Given the description of an element on the screen output the (x, y) to click on. 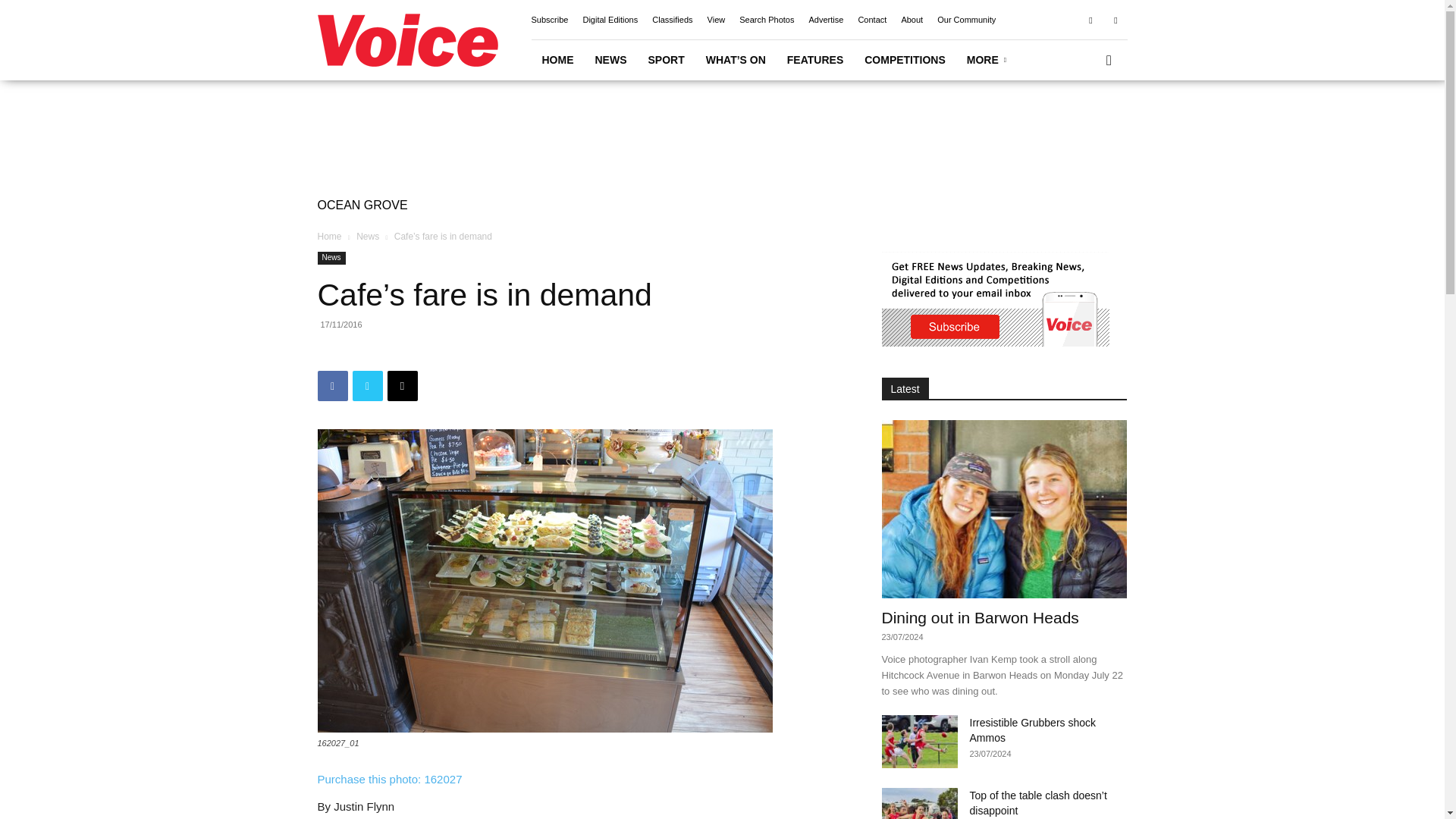
View all posts in News (367, 235)
Contact (871, 19)
Search Photos (766, 19)
Subscribe (549, 19)
Facebook (332, 386)
Our Community (966, 19)
Search (1085, 122)
COMPETITIONS (904, 60)
Facebook (1090, 19)
View (716, 19)
topFacebookLike (430, 351)
SPORT (665, 60)
Classifieds (672, 19)
FEATURES (814, 60)
Email (401, 386)
